Given the description of an element on the screen output the (x, y) to click on. 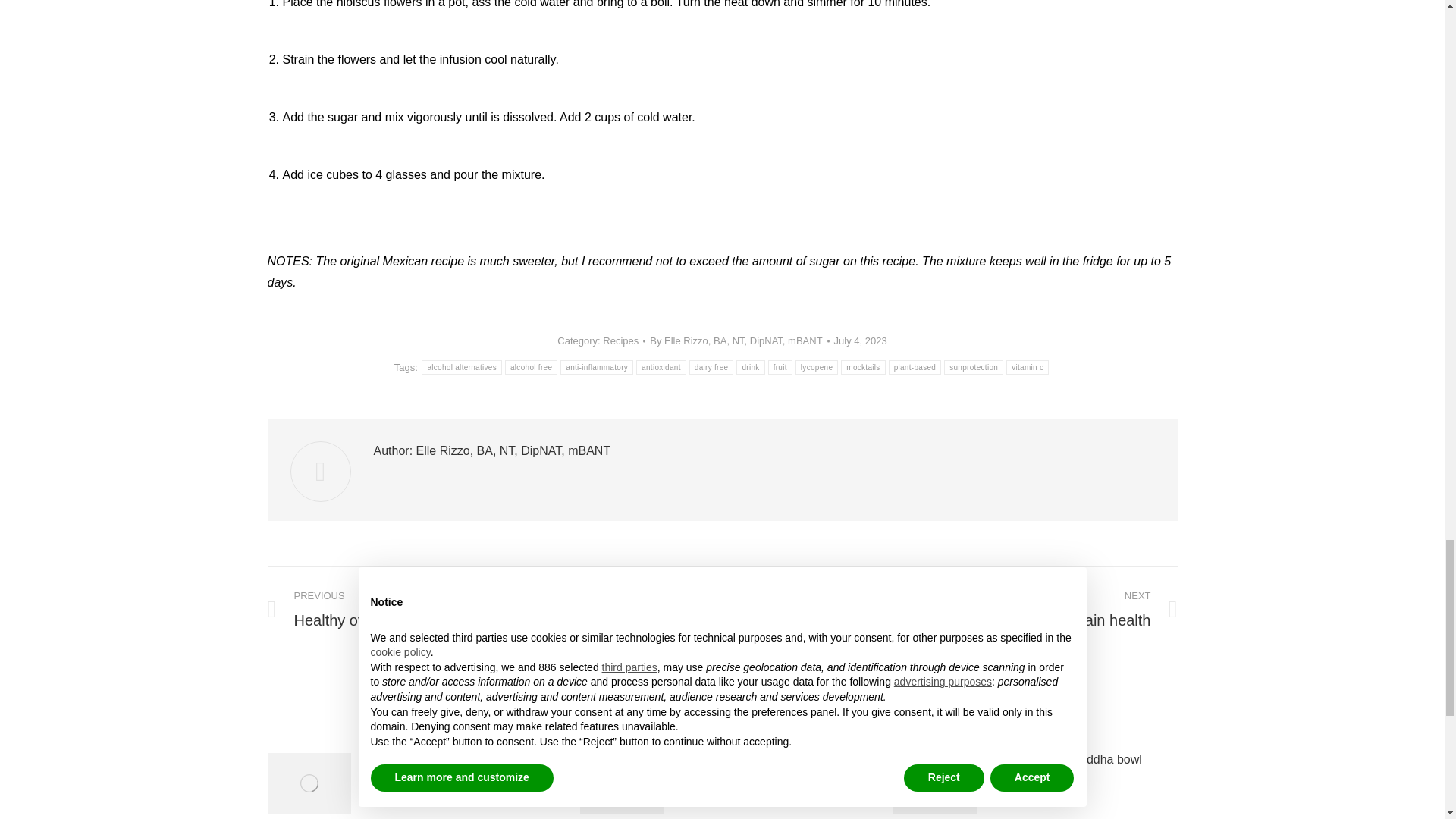
anti-inflammatory (596, 367)
By Elle Rizzo, BA, NT, DipNAT, mBANT (738, 340)
Recipes (620, 340)
alcohol alternatives (462, 367)
10:00 am (860, 340)
July 4, 2023 (860, 340)
View all posts by Elle Rizzo, BA, NT, DipNAT, mBANT (738, 340)
alcohol free (531, 367)
